Given the description of an element on the screen output the (x, y) to click on. 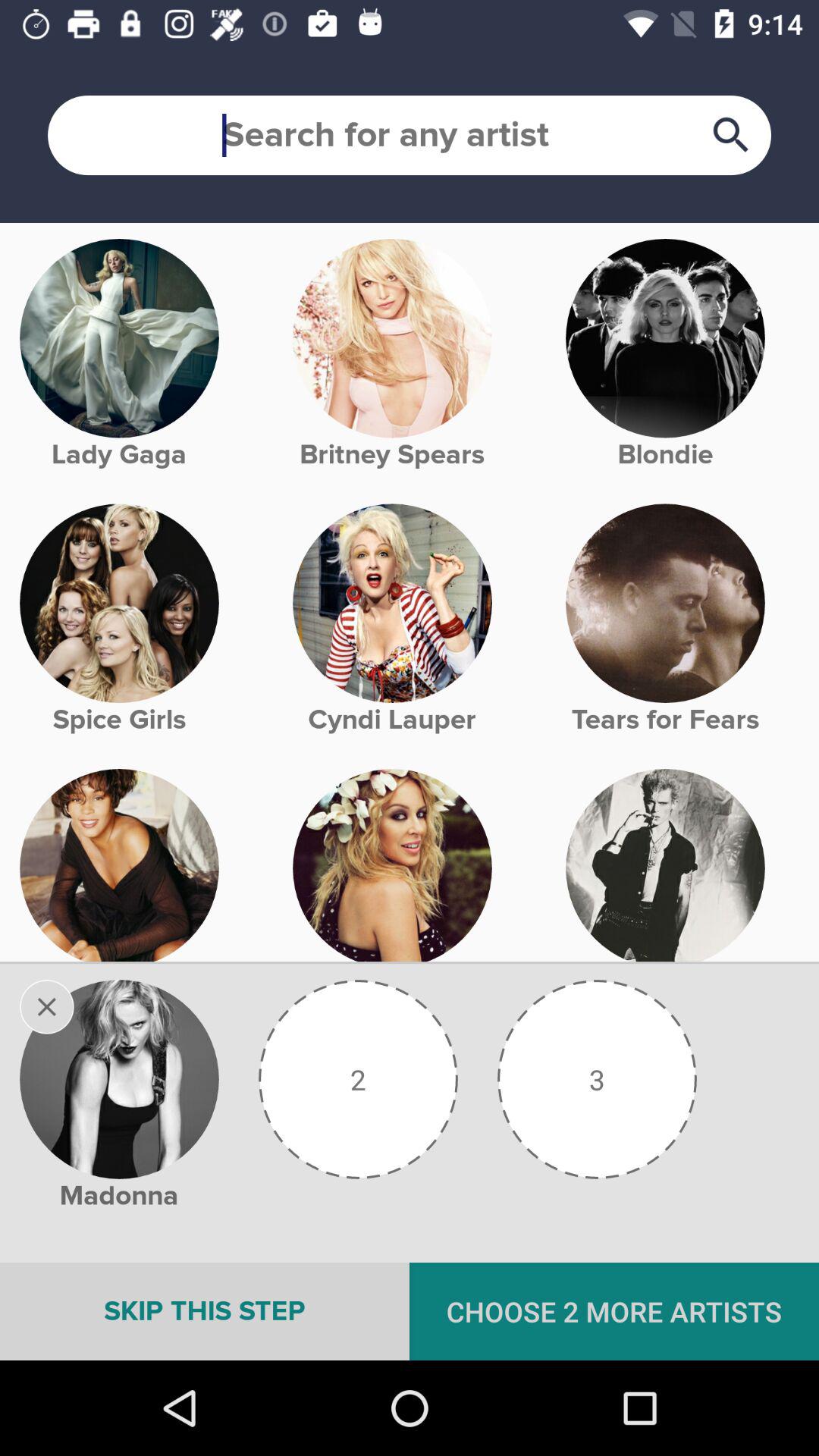
search for any artist (409, 135)
